Given the description of an element on the screen output the (x, y) to click on. 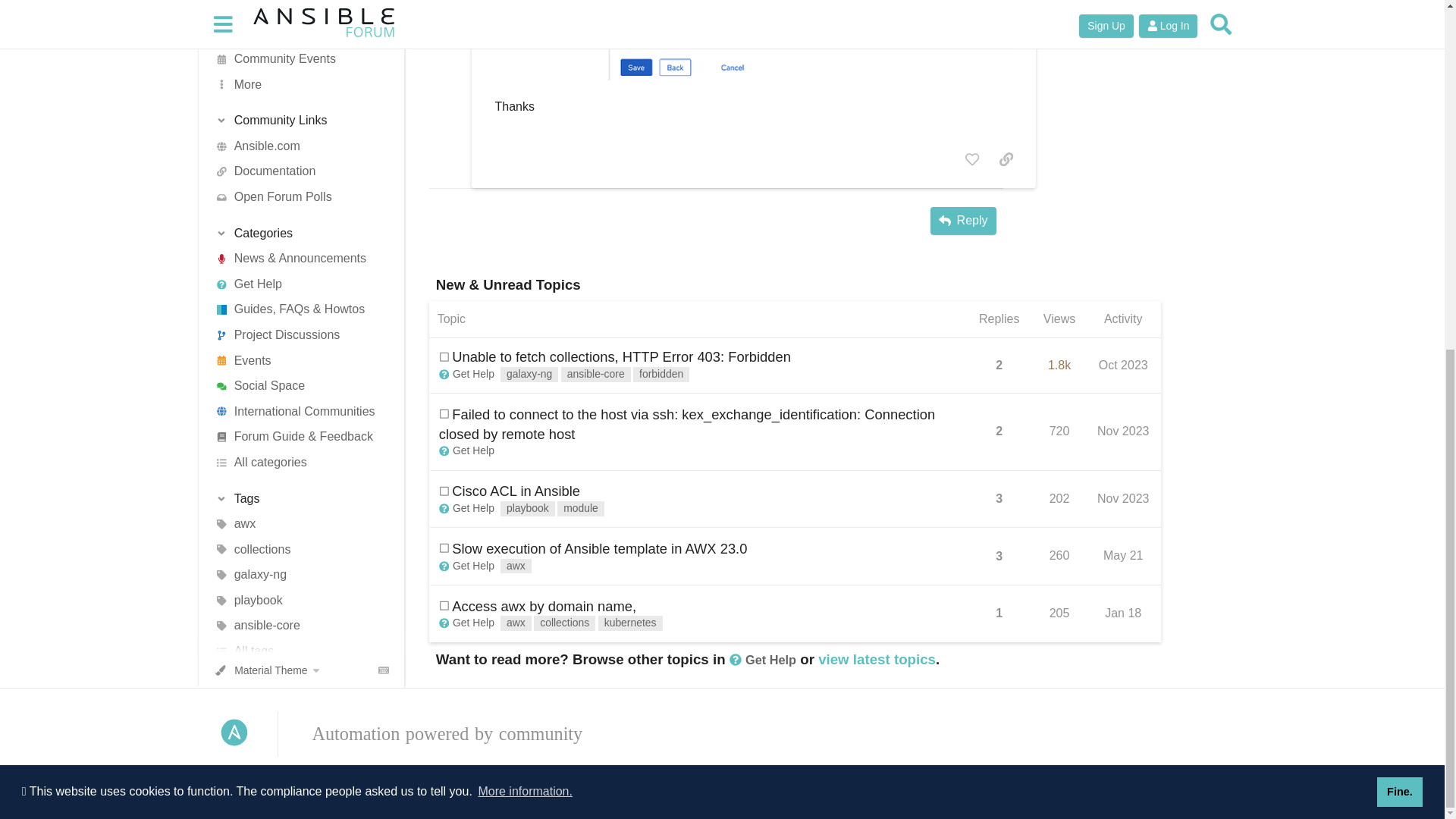
Toggle section (295, 7)
awx (295, 31)
playbook (295, 108)
ansible-core (295, 134)
galaxy-ng (295, 83)
Tags (295, 7)
collections (295, 57)
More information. (525, 186)
All tags (295, 158)
Fine. (1400, 186)
